Given the description of an element on the screen output the (x, y) to click on. 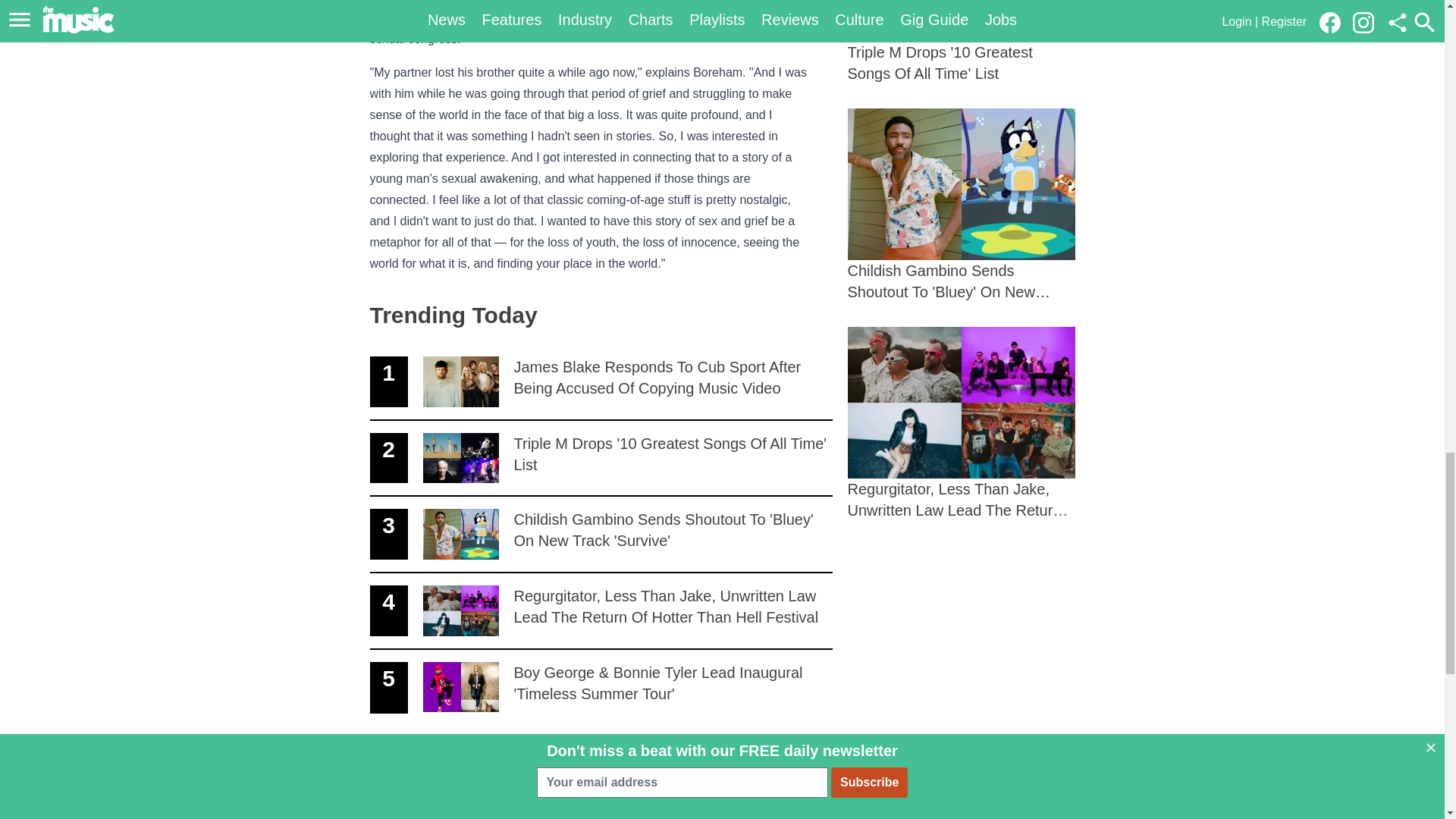
Triple M Drops '10 Greatest Songs Of All Time' List (961, 42)
